Given the description of an element on the screen output the (x, y) to click on. 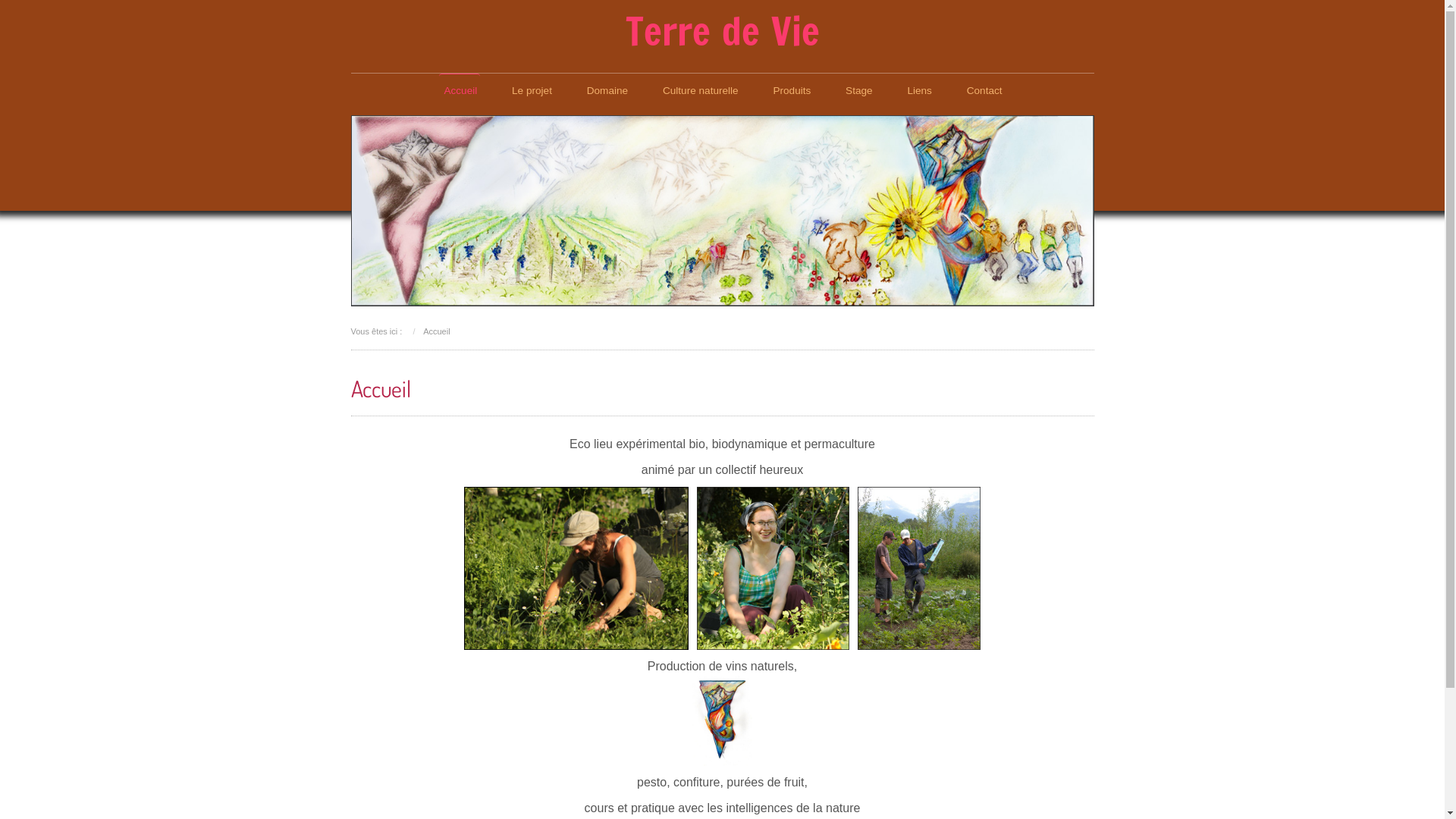
Accueil Element type: text (436, 330)
Culture naturelle Element type: text (699, 90)
Stage Element type: text (857, 90)
Terre de Vie Element type: text (721, 31)
Le projet Element type: text (531, 90)
Contact Element type: text (983, 90)
Produits Element type: text (790, 90)
Domaine Element type: text (606, 90)
Accueil Element type: text (459, 90)
Liens Element type: text (918, 90)
